Given the description of an element on the screen output the (x, y) to click on. 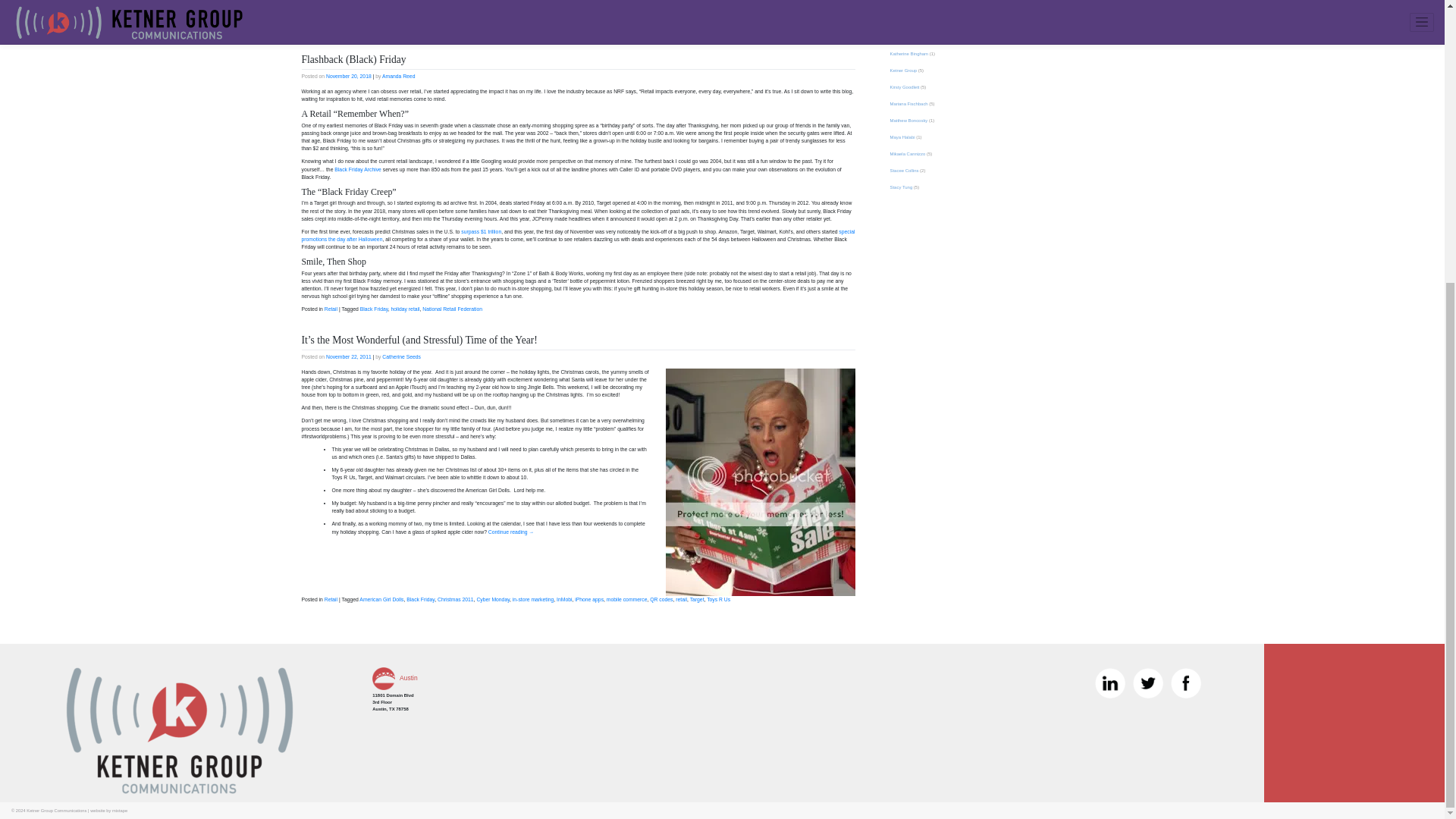
iPhone apps (589, 599)
November 22, 2011 (348, 356)
Catherine Seeds (400, 356)
Cyber Monday (492, 599)
American Girl Dolls (381, 599)
Retail (330, 309)
holiday retail (404, 309)
Black Friday Archive (357, 169)
Black Friday (419, 599)
Retail (330, 599)
InMobi (564, 599)
Black Friday (373, 309)
mobile commerce (627, 599)
special promotions the day after Halloween (578, 235)
National Retail Federation (451, 309)
